Given the description of an element on the screen output the (x, y) to click on. 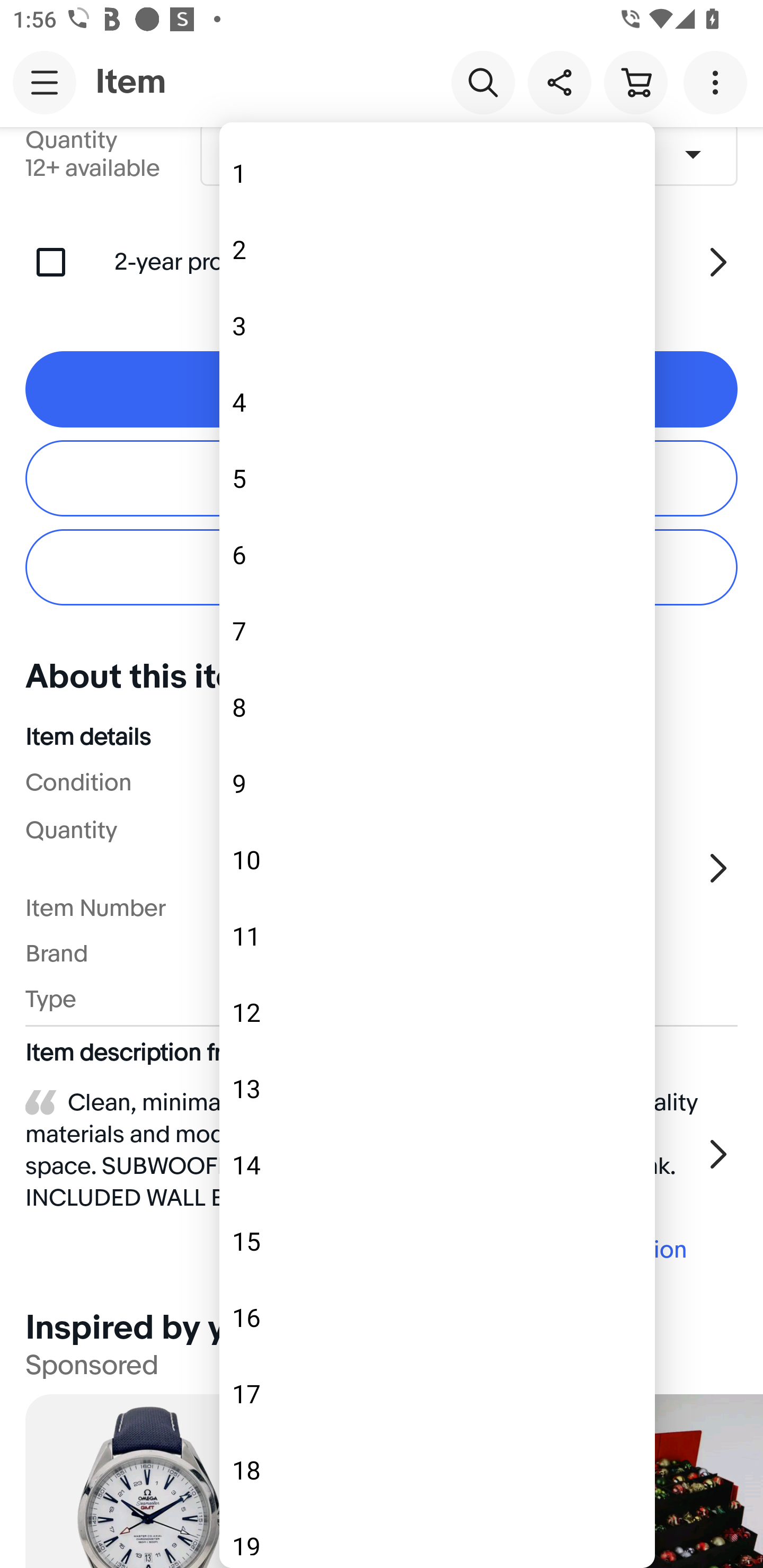
1 (436, 172)
2 (436, 248)
3 (436, 324)
4 (436, 401)
5 (436, 477)
6 (436, 553)
7 (436, 630)
8 (436, 706)
9 (436, 782)
10 (436, 859)
11 (436, 935)
12 (436, 1011)
13 (436, 1088)
14 (436, 1164)
15 (436, 1240)
16 (436, 1317)
17 (436, 1393)
18 (436, 1469)
19 (436, 1531)
